Given the description of an element on the screen output the (x, y) to click on. 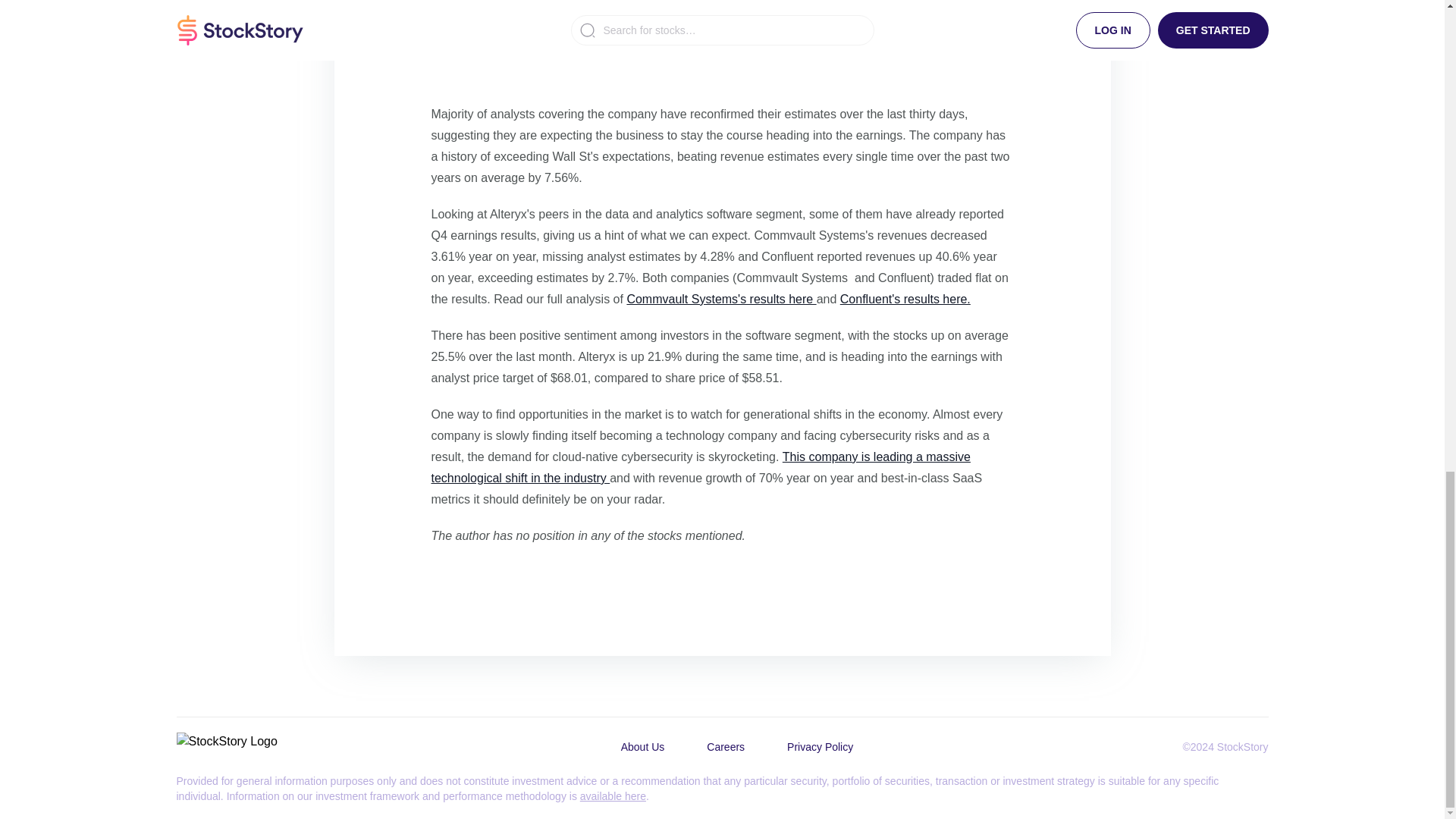
Privacy Policy (819, 746)
Confluent's results here. (905, 298)
Commvault Systems's results here (720, 298)
available here (612, 796)
Careers (725, 746)
About Us (642, 746)
